Given the description of an element on the screen output the (x, y) to click on. 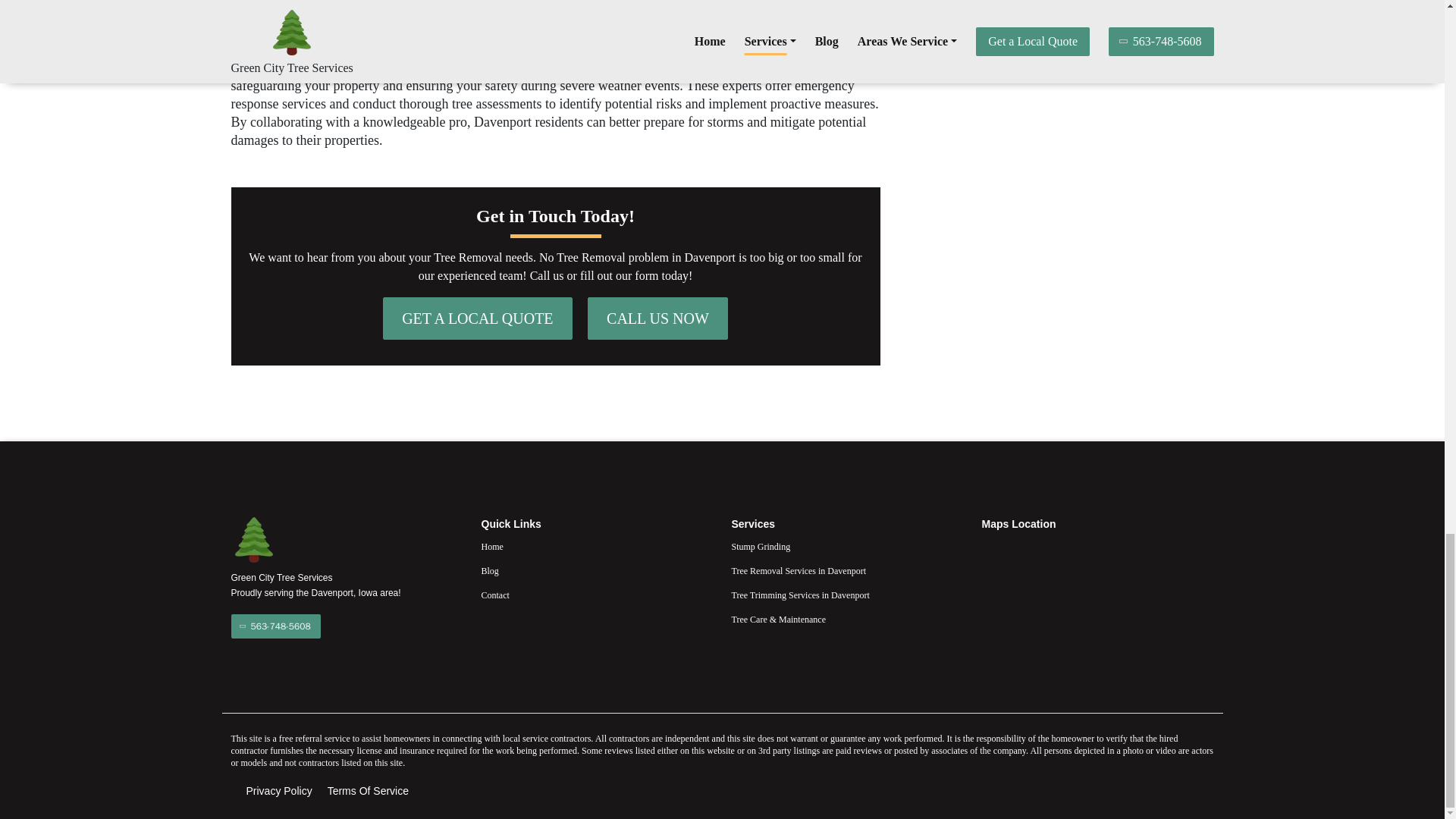
GET A LOCAL QUOTE (477, 317)
Blog (596, 570)
CALL US NOW (658, 317)
Contact (596, 595)
Home (596, 546)
563-748-5608 (275, 625)
